Given the description of an element on the screen output the (x, y) to click on. 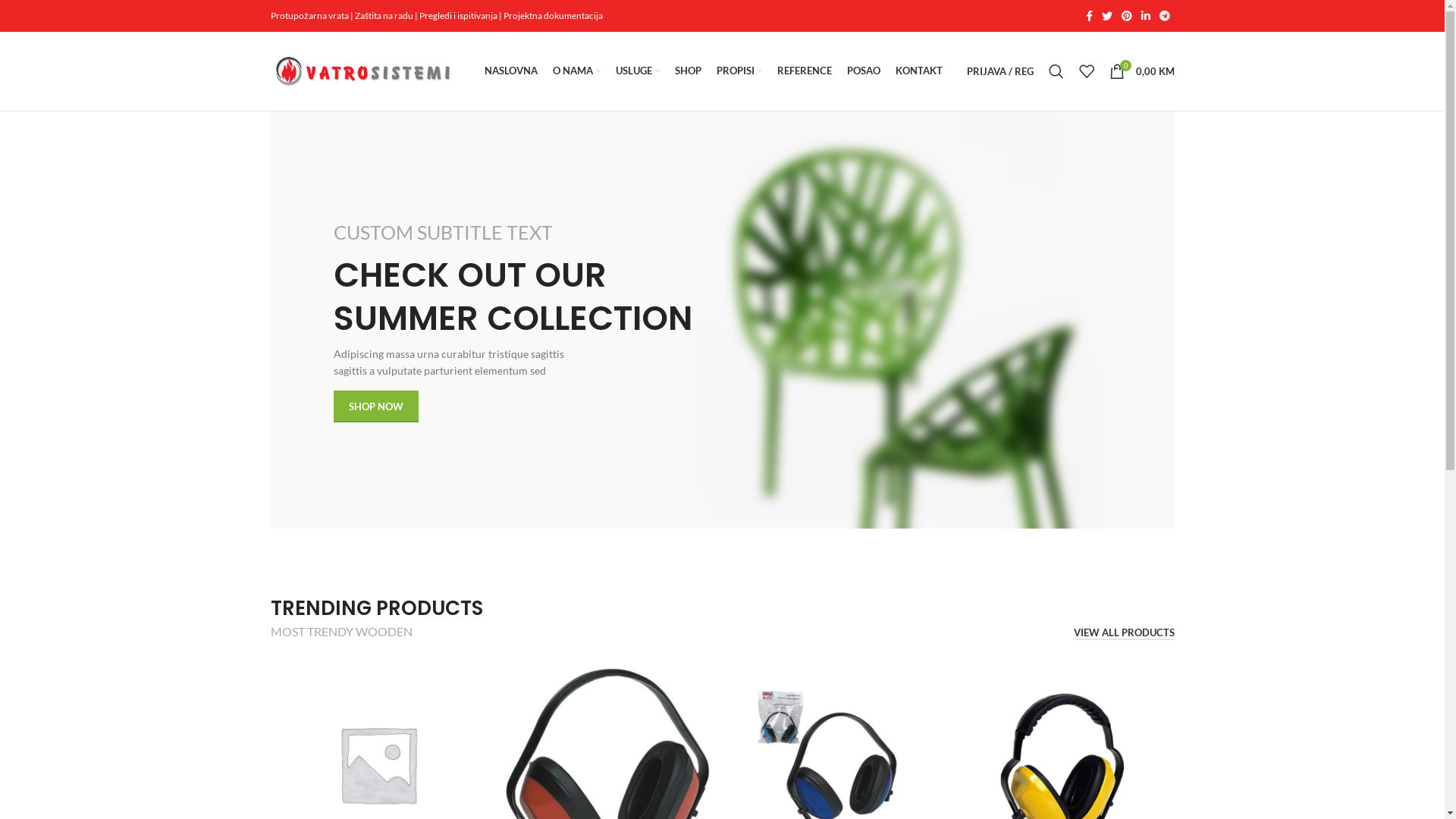
USLUGE Element type: text (637, 71)
PRIJAVA / REG Element type: text (999, 71)
VIEW ALL PRODUCTS Element type: text (1123, 633)
SHOP NOW Element type: text (375, 406)
KONTAKT Element type: text (917, 71)
NASLOVNA Element type: text (509, 71)
Log in Element type: text (908, 312)
PROPISI Element type: text (738, 71)
Search Element type: hover (1055, 71)
POSAO Element type: text (862, 71)
SHOP Element type: text (687, 71)
REFERENCE Element type: text (803, 71)
0
0,00 KM Element type: text (1141, 71)
O NAMA Element type: text (575, 71)
My Wishlist Element type: hover (1085, 71)
